Given the description of an element on the screen output the (x, y) to click on. 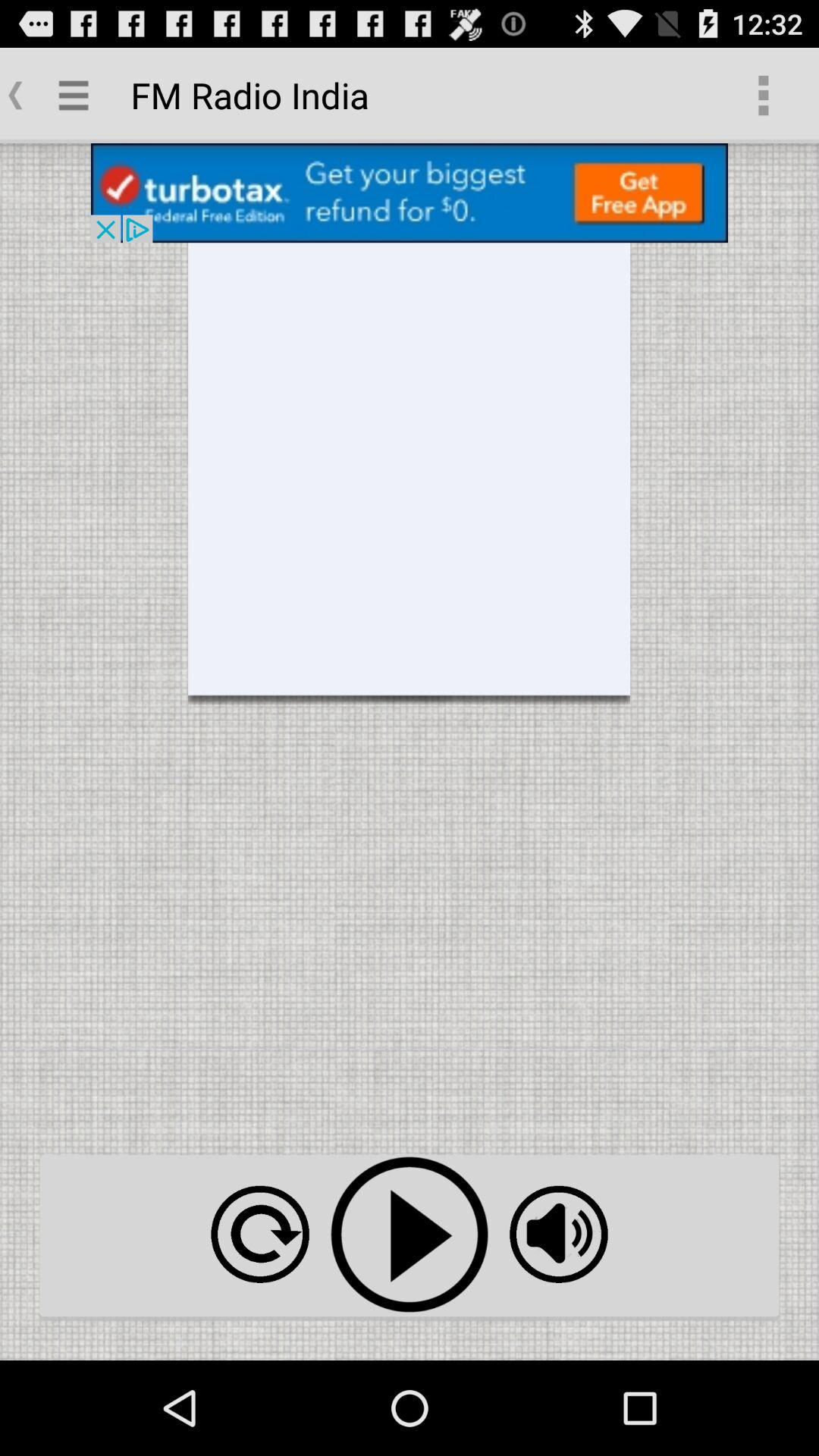
press the play button (409, 1234)
